Given the description of an element on the screen output the (x, y) to click on. 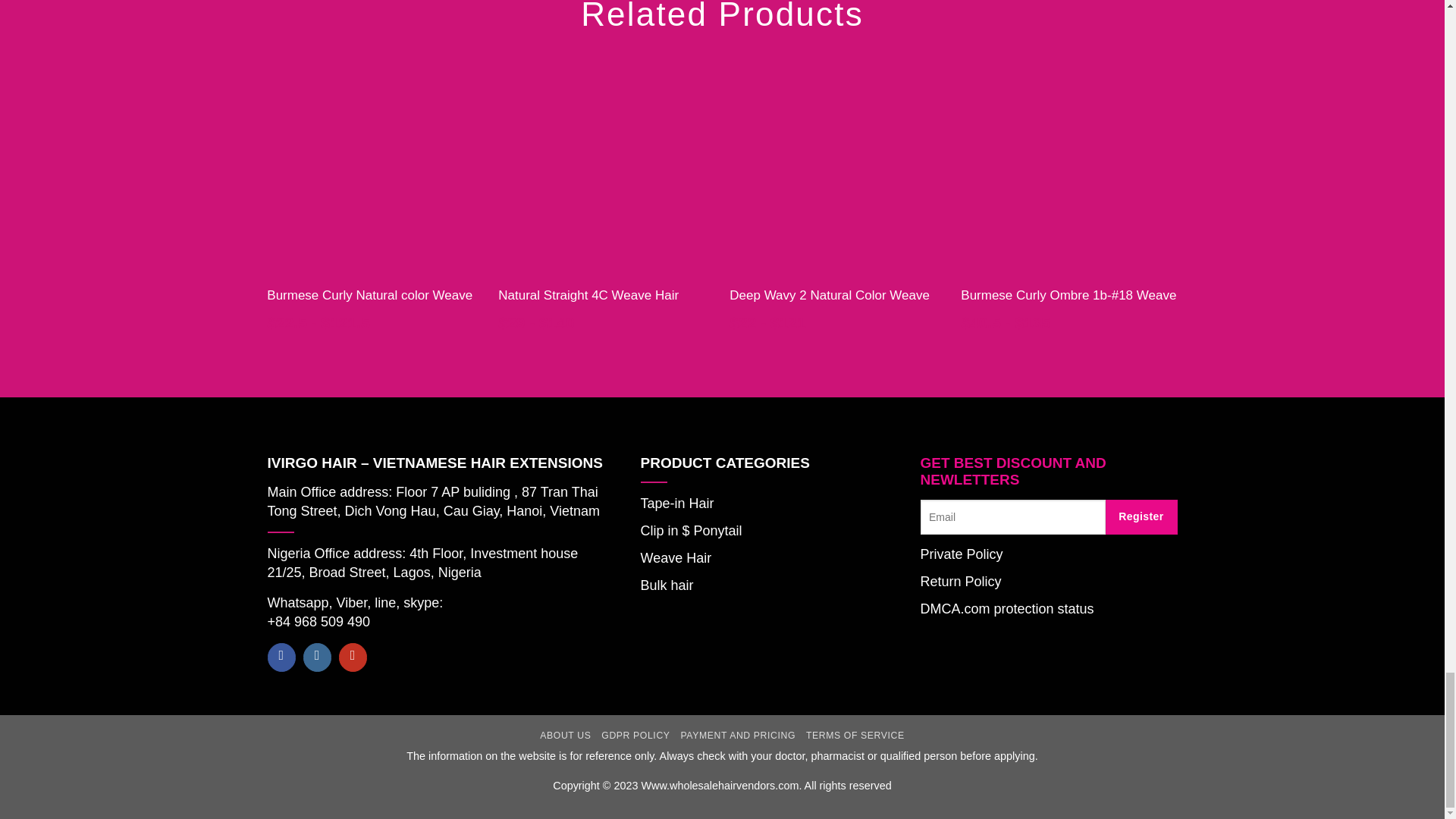
Follow on Facebook (280, 656)
Register (1141, 516)
Follow on Instagram (316, 656)
